Given the description of an element on the screen output the (x, y) to click on. 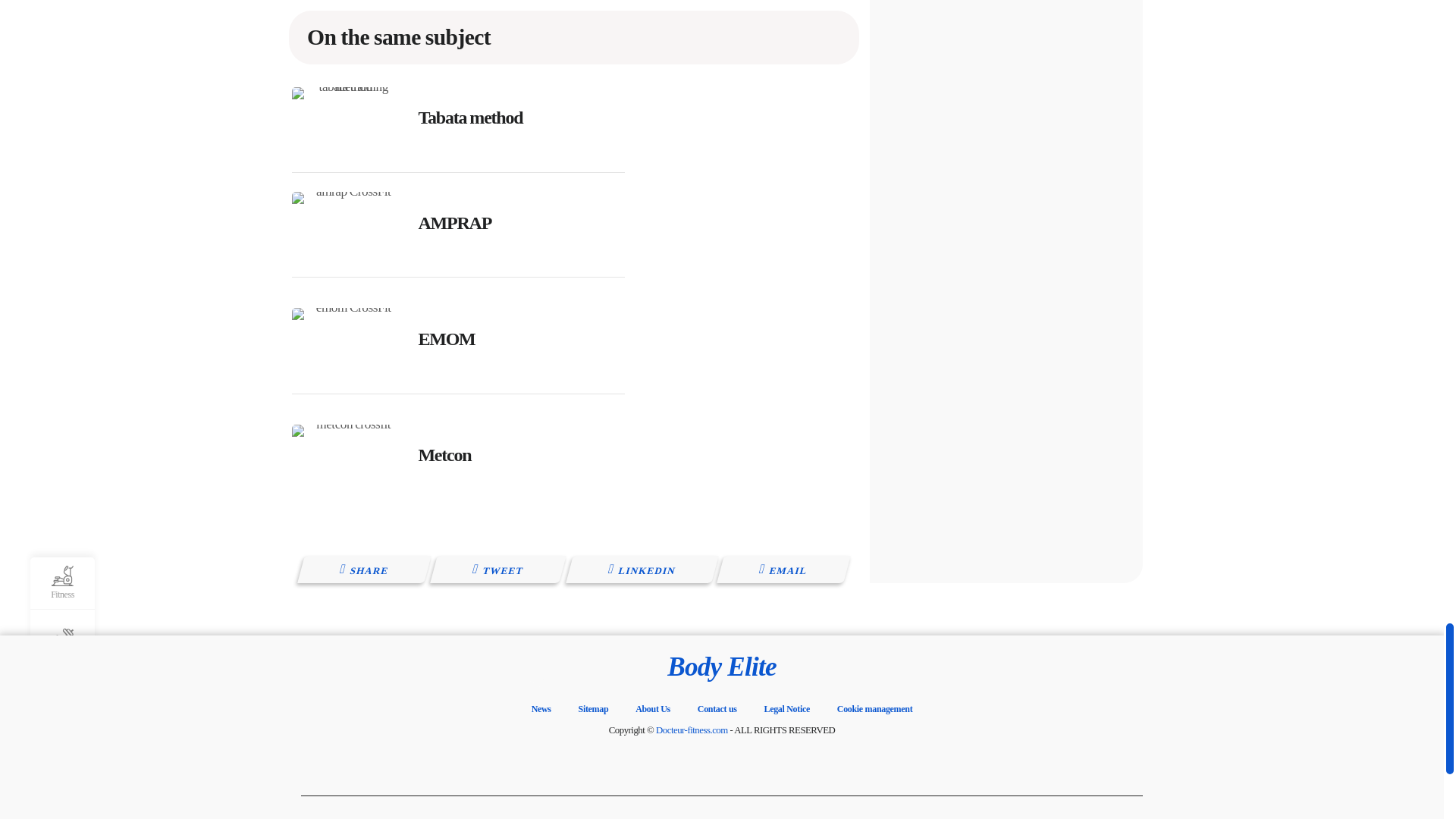
Tabata method (469, 117)
AMPRAP (454, 222)
